Given the description of an element on the screen output the (x, y) to click on. 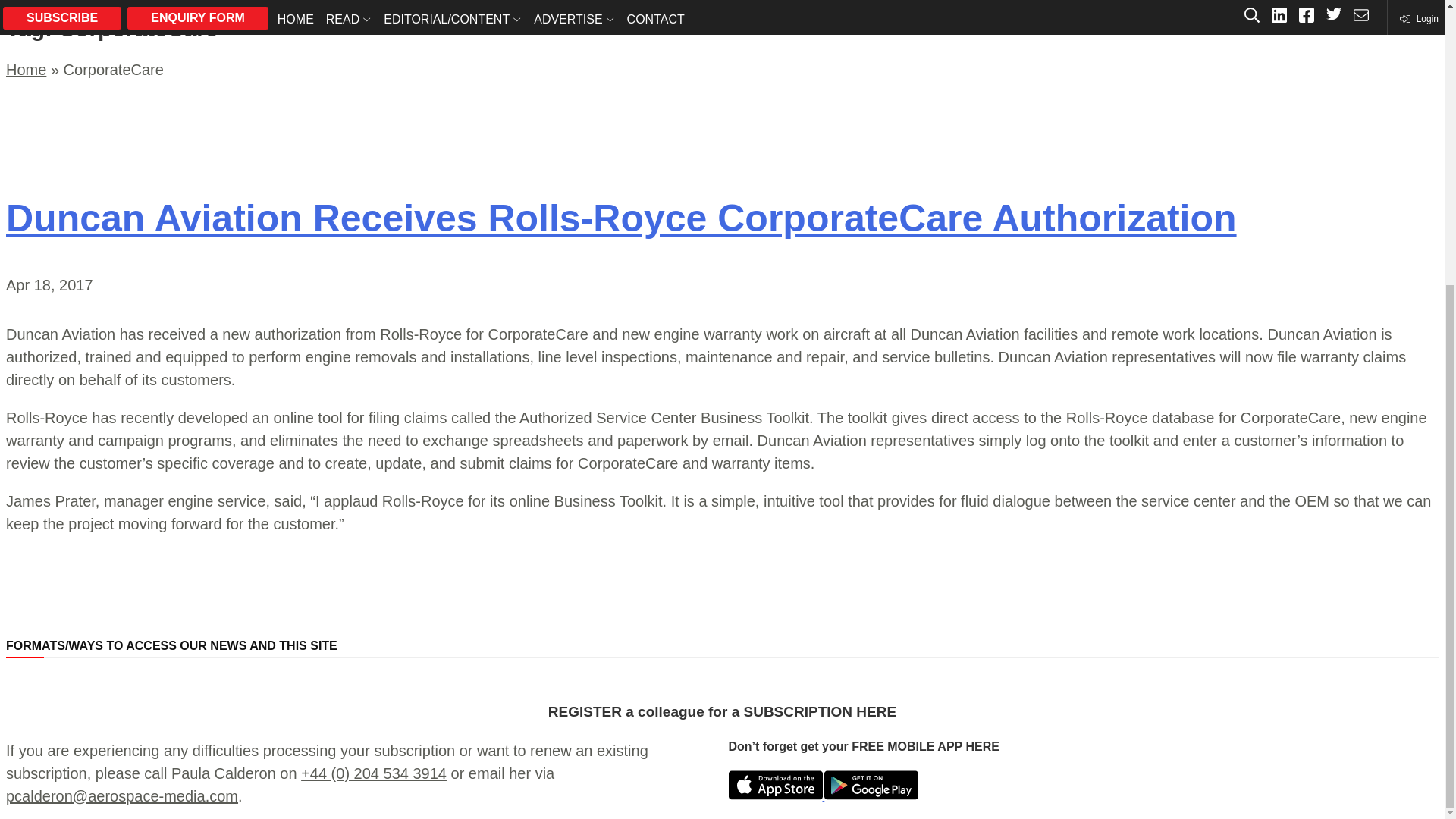
Home (25, 69)
